Given the description of an element on the screen output the (x, y) to click on. 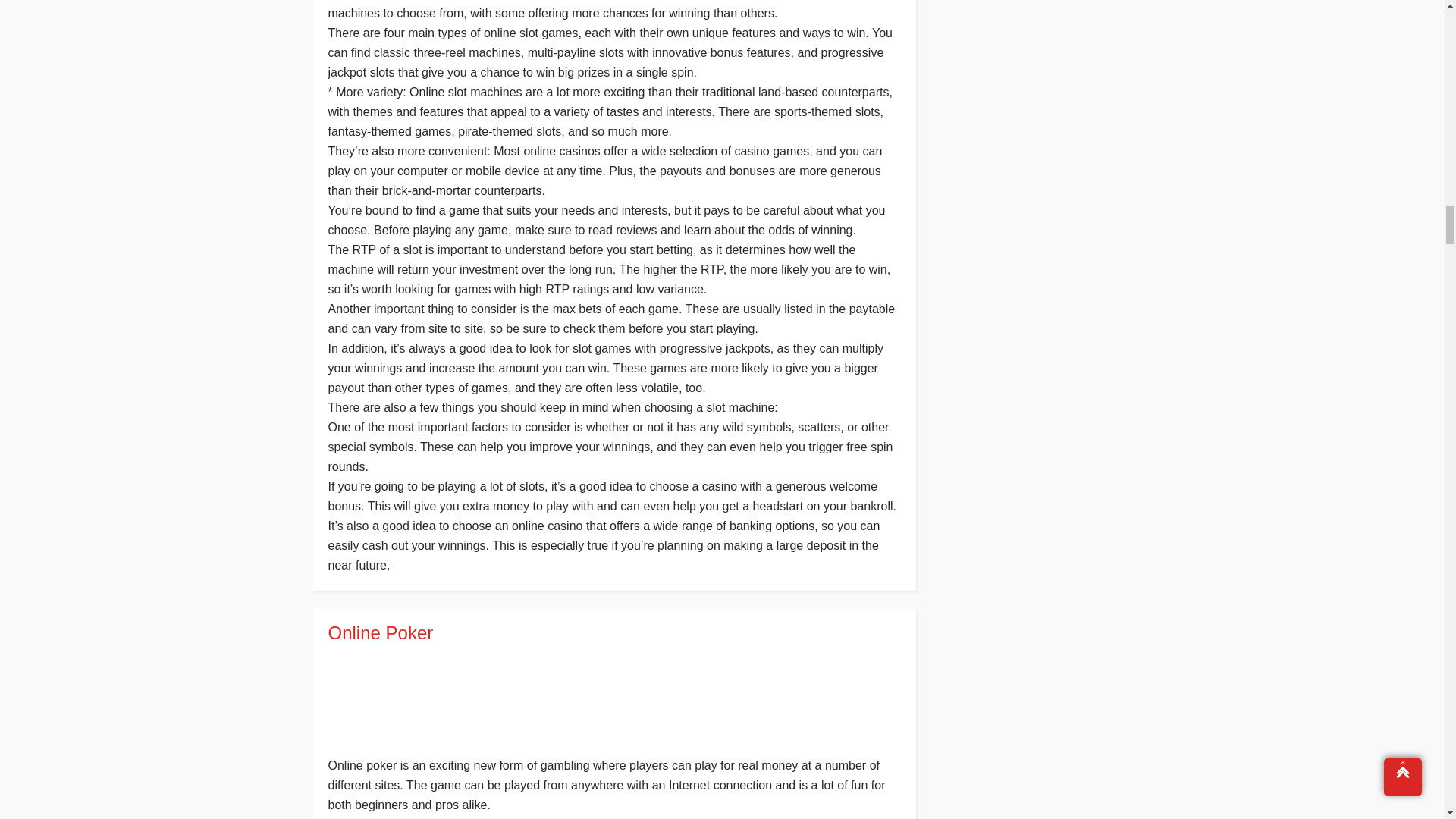
Online Poker (613, 633)
